Given the description of an element on the screen output the (x, y) to click on. 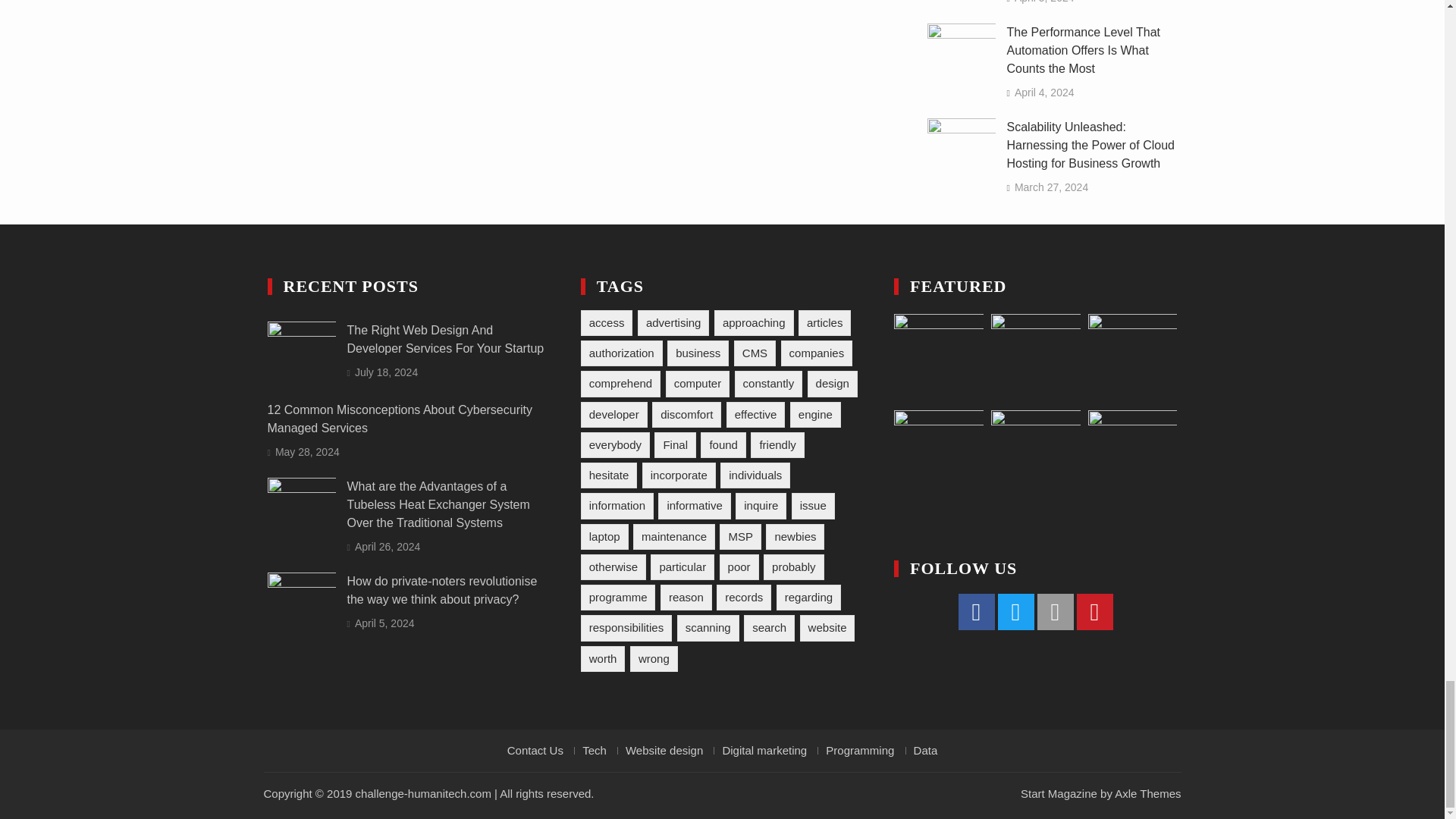
Pinterest (1095, 611)
LinkedIn (1055, 611)
Twitter (1015, 611)
Facebook (976, 611)
